Given the description of an element on the screen output the (x, y) to click on. 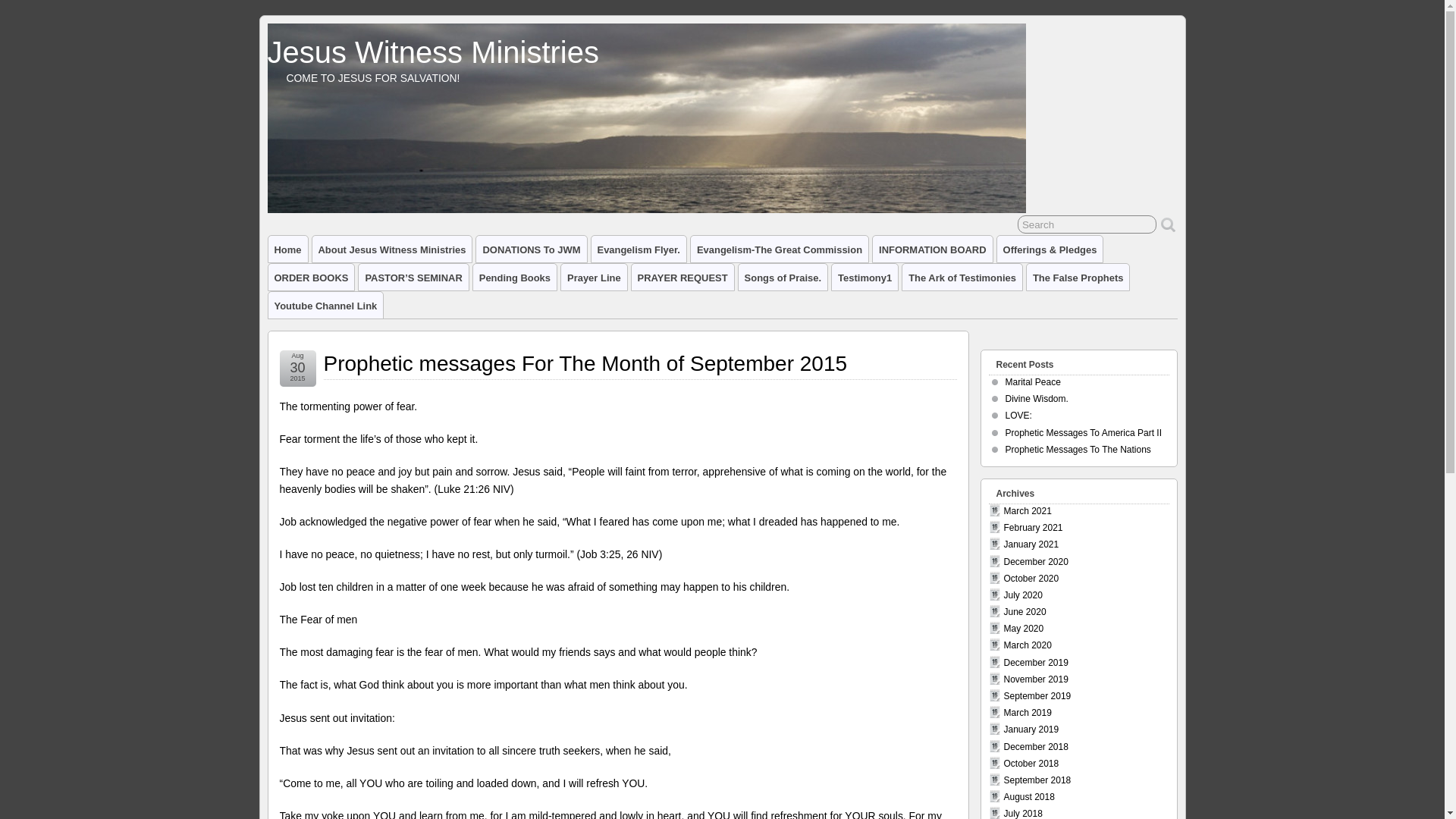
October 2020 (1031, 578)
January 2021 (1031, 543)
December 2020 (1036, 561)
Prophetic Messages To The Nations (1078, 449)
May 2020 (1023, 628)
ORDER BOOKS (311, 276)
Prophetic Messages To America Part II (1083, 432)
Songs of Praise. (783, 276)
Home (287, 248)
Prophetic messages For The Month of September 2015 (585, 363)
Search (1086, 224)
Search (1086, 224)
Pending Books (514, 276)
September 2019 (1037, 696)
July 2020 (1023, 594)
